Given the description of an element on the screen output the (x, y) to click on. 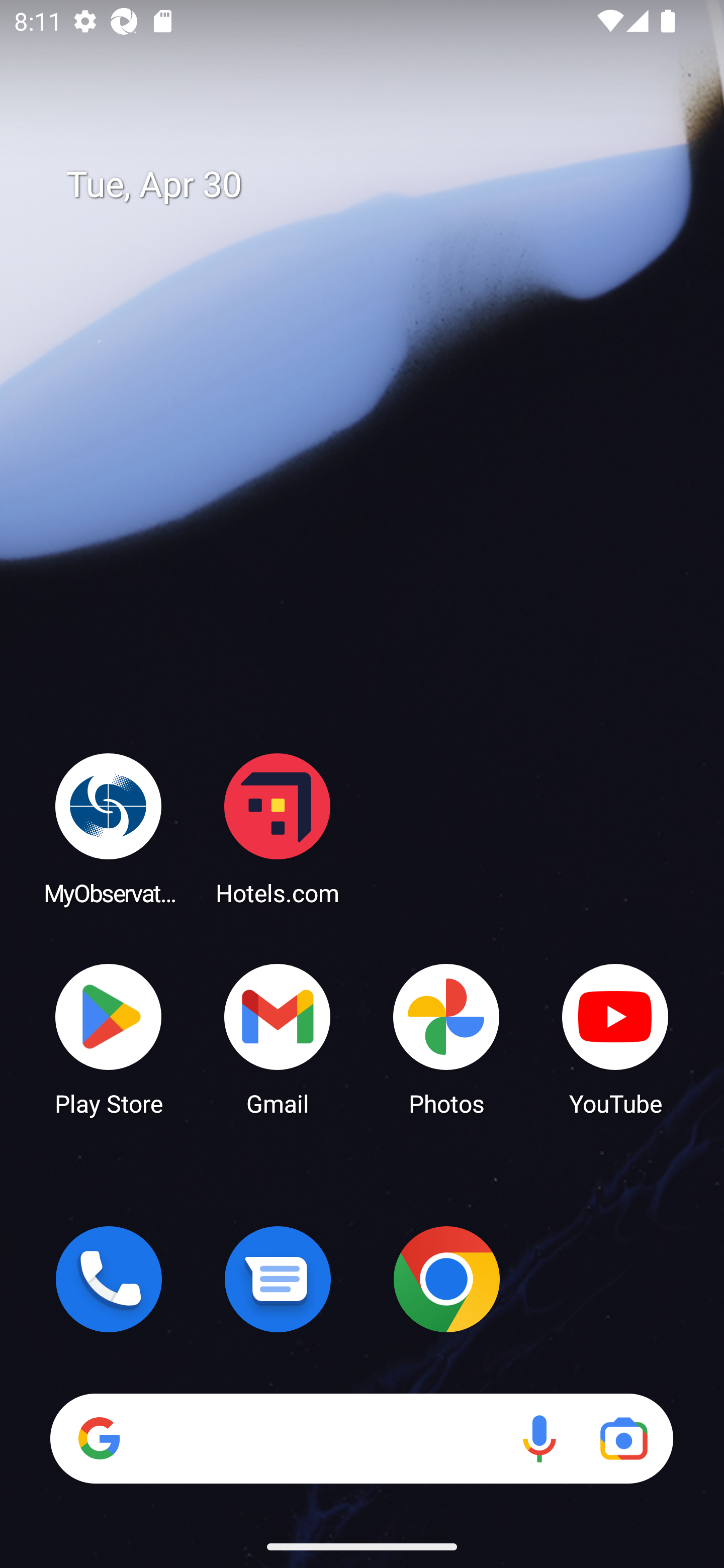
Tue, Apr 30 (375, 184)
MyObservatory (108, 828)
Hotels.com (277, 828)
Play Store (108, 1038)
Gmail (277, 1038)
Photos (445, 1038)
YouTube (615, 1038)
Phone (108, 1279)
Messages (277, 1279)
Chrome (446, 1279)
Voice search (539, 1438)
Google Lens (623, 1438)
